Given the description of an element on the screen output the (x, y) to click on. 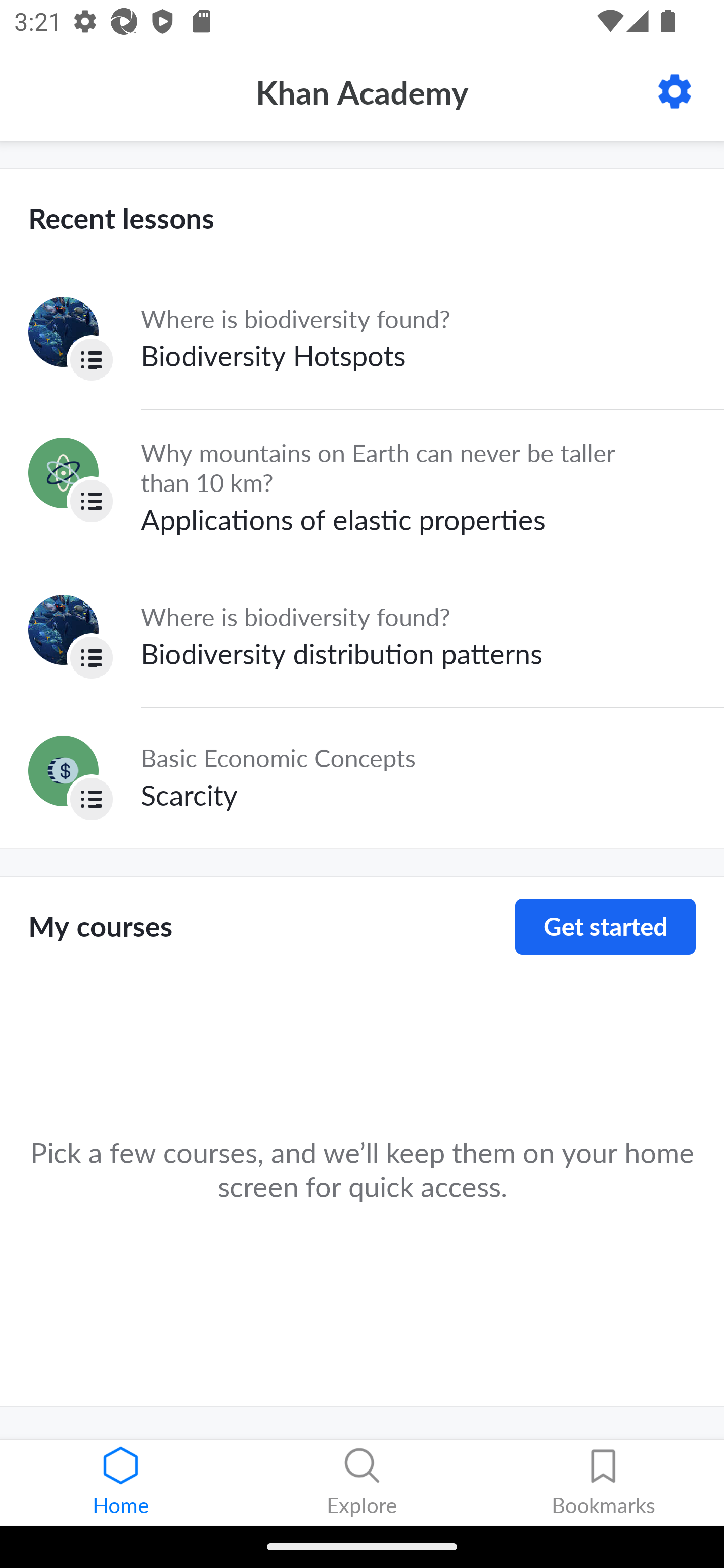
Settings (674, 91)
Lesson Basic Economic Concepts Scarcity (362, 777)
Get started (605, 926)
Home (120, 1482)
Explore (361, 1482)
Bookmarks (603, 1482)
